Given the description of an element on the screen output the (x, y) to click on. 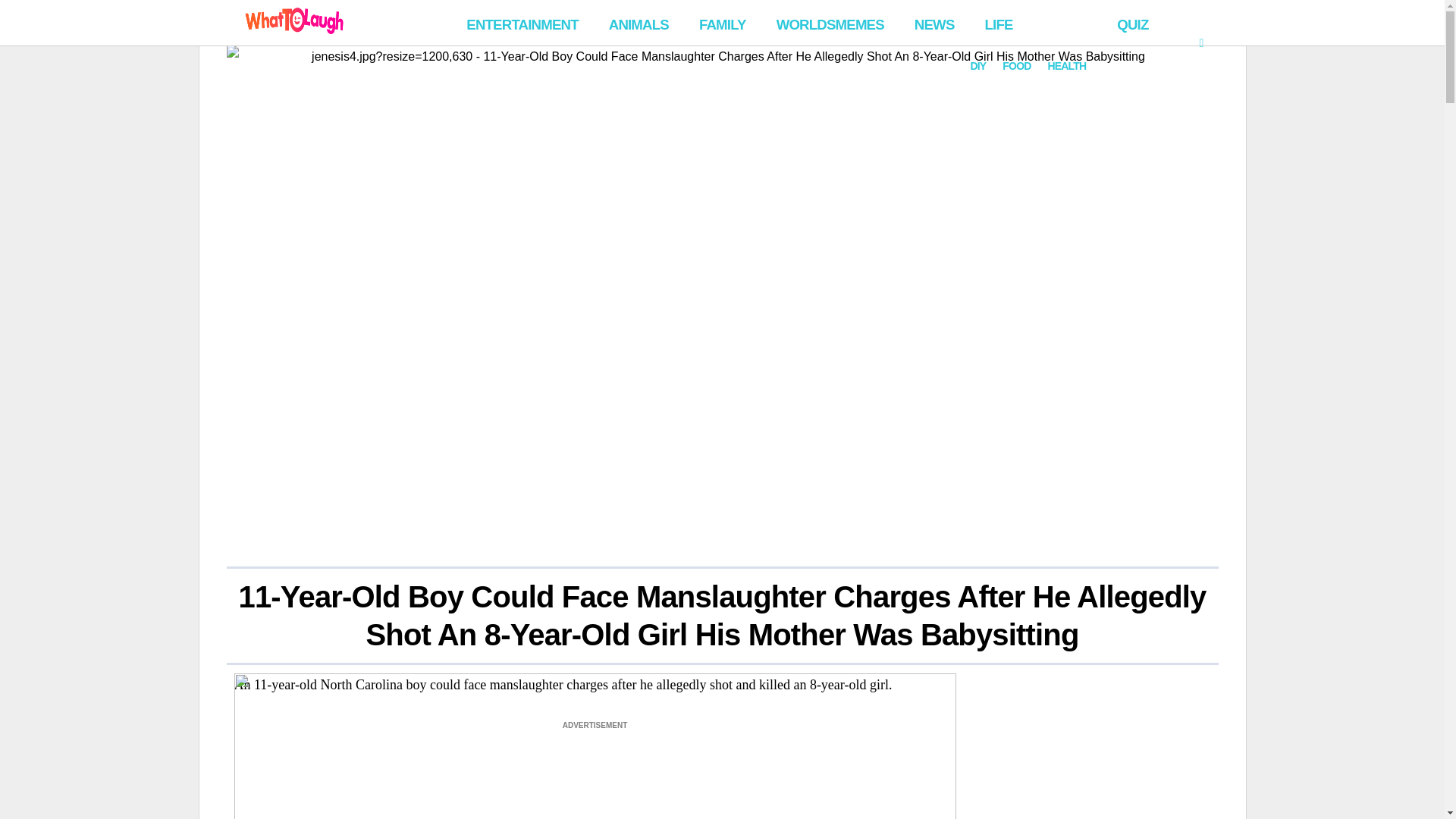
FAMILY (722, 22)
Food (1112, 20)
HEALTH (1066, 65)
NEWS (934, 22)
ENTERTAINMENT (521, 22)
WORLDSMEMES (829, 22)
QUIZ (1132, 22)
LIFE (1035, 22)
Health (1152, 20)
